Given the description of an element on the screen output the (x, y) to click on. 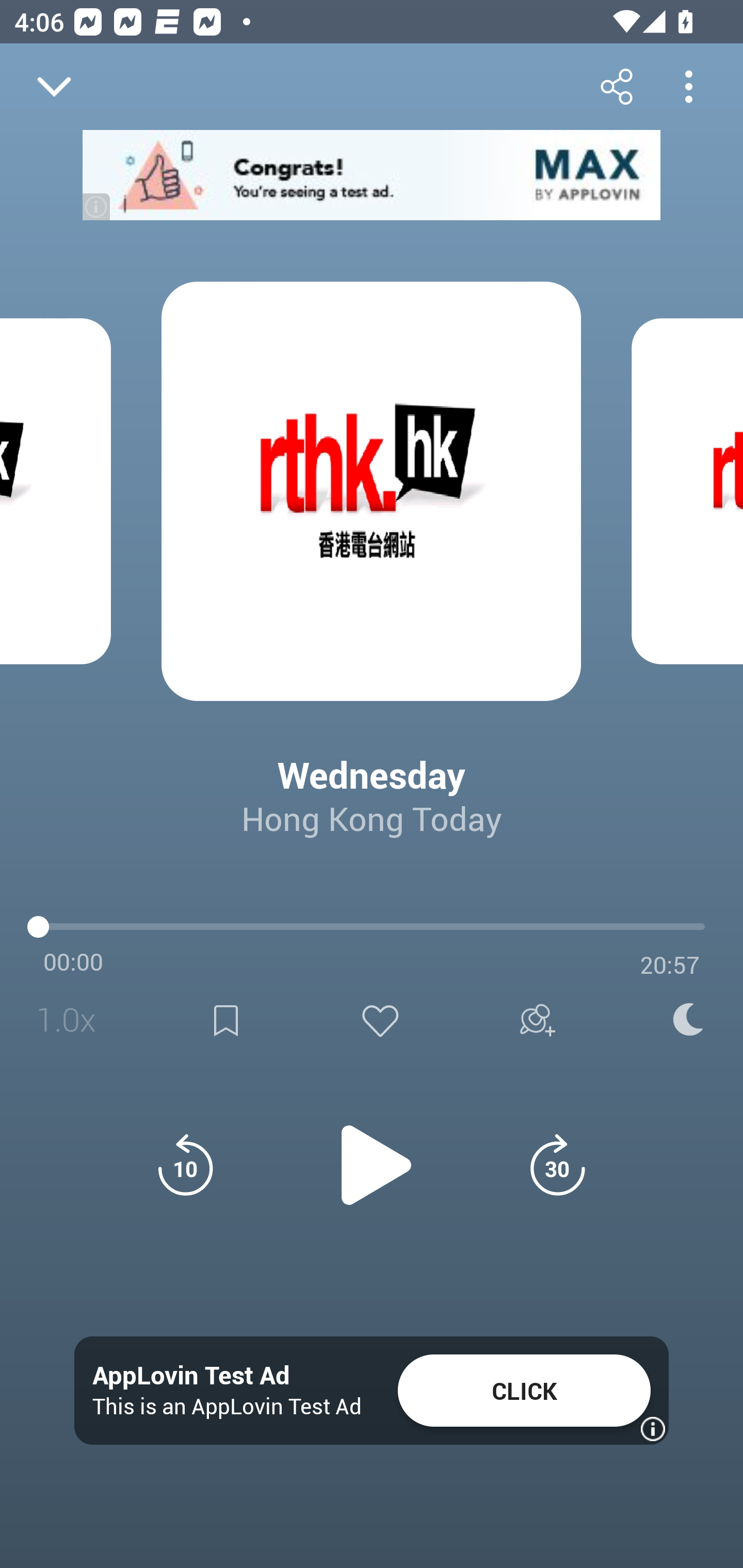
Close fullscreen player (54, 86)
Share (616, 86)
More options (688, 86)
app-monetization (371, 175)
(i) (96, 206)
Wednesday Hong Kong Today (371, 780)
Hong Kong Today (371, 818)
20:57 (669, 964)
1.0x Speed (72, 1020)
Like (380, 1020)
Play button (371, 1153)
Jump back (185, 1164)
Jump forward (557, 1164)
CLICK (523, 1390)
AppLovin Test Ad (191, 1375)
This is an AppLovin Test Ad (226, 1406)
